Given the description of an element on the screen output the (x, y) to click on. 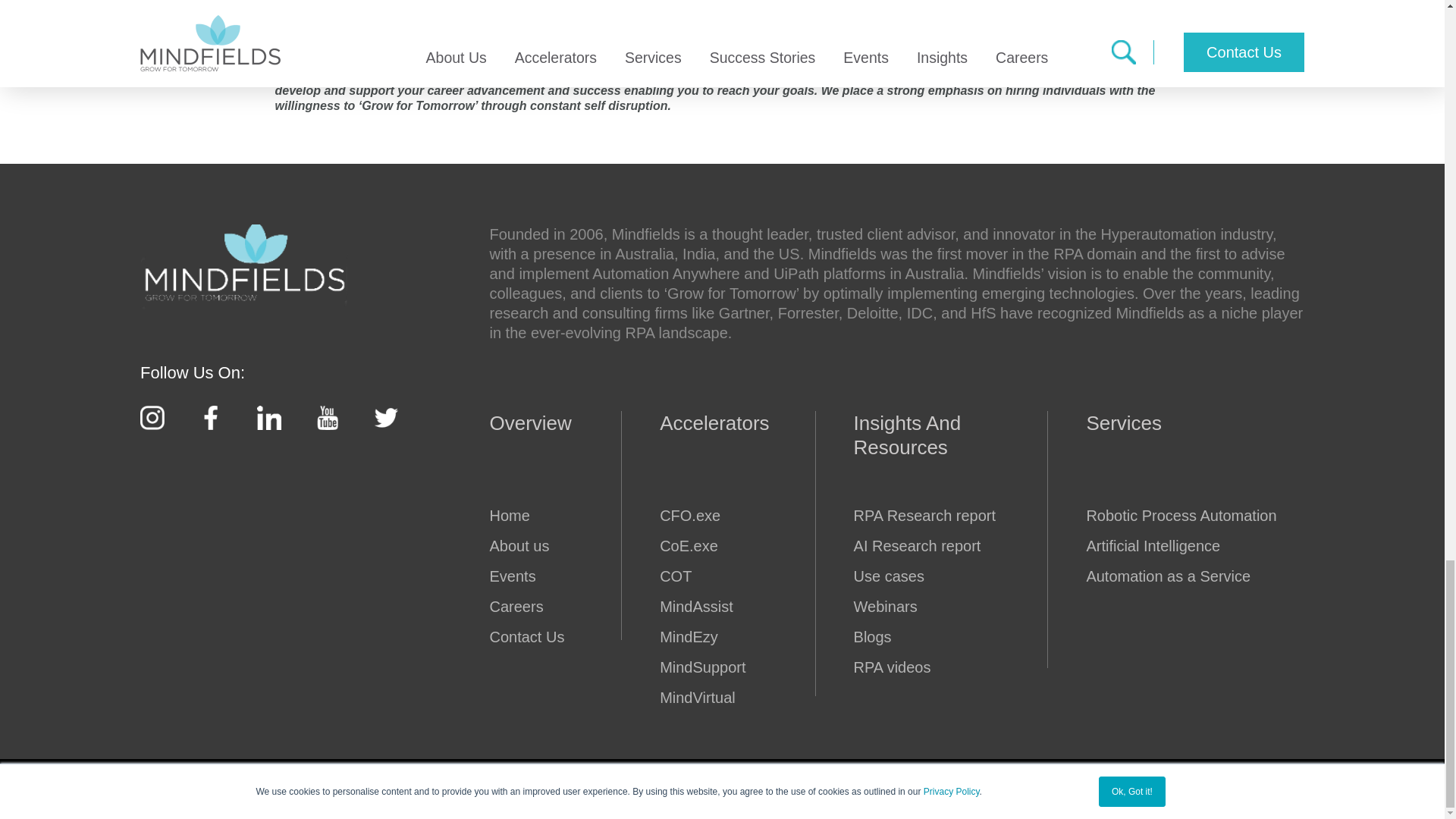
Contact Us (526, 637)
Code Optimization Tool (702, 576)
Hyperautomation (526, 516)
Centre of Excellence (702, 546)
Mindfields Events (526, 576)
Career (526, 607)
About Mindfields (526, 546)
Future of Finance (702, 516)
